Given the description of an element on the screen output the (x, y) to click on. 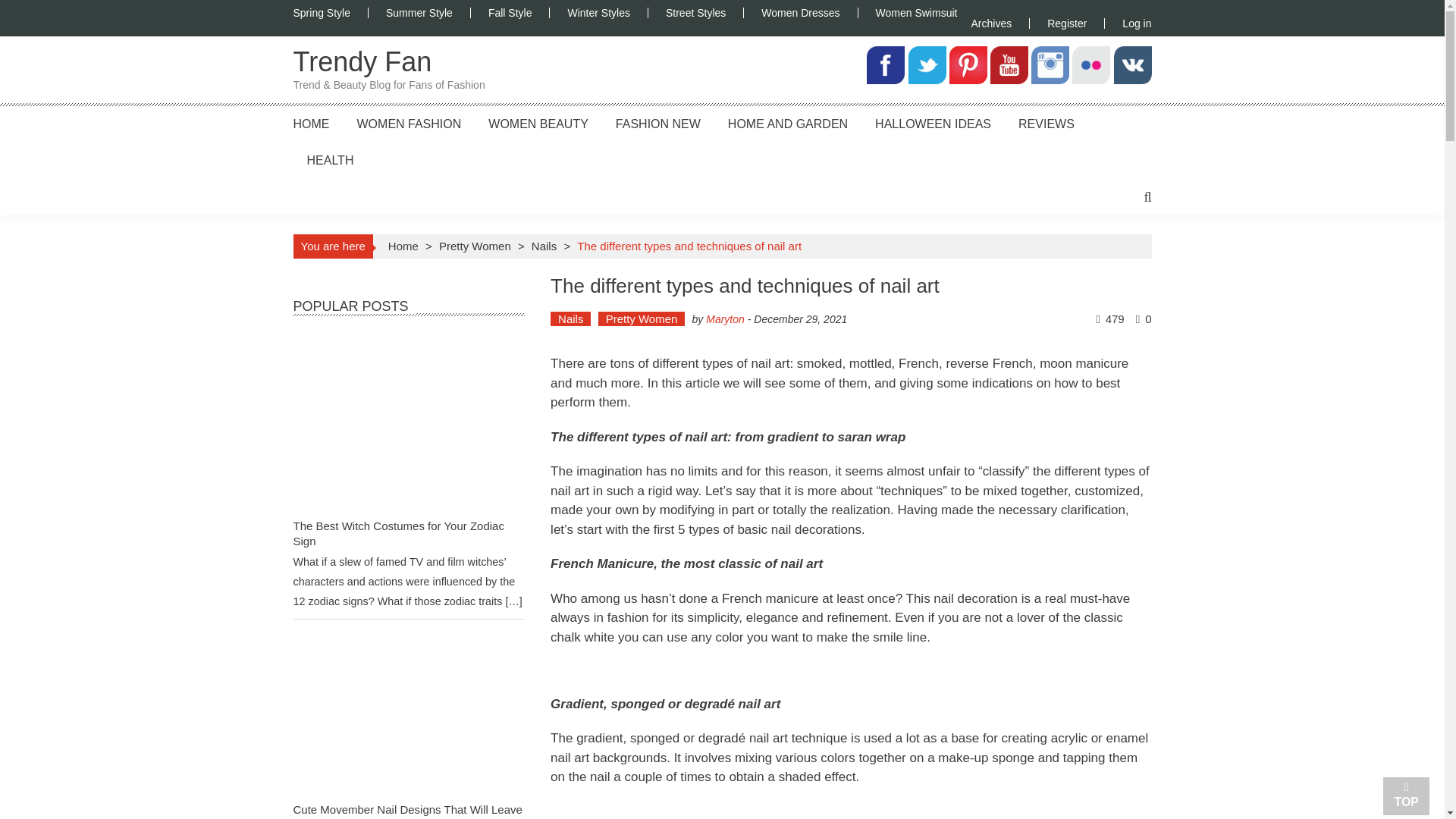
WOMEN FASHION (408, 123)
HOME AND GARDEN (787, 123)
Register (1066, 23)
WOMEN BEAUTY (537, 123)
HOME (310, 123)
Women Dresses (799, 12)
The Best Witch Costumes for Your Zodiac Sign (408, 424)
Fall Style (510, 12)
Spring Style (329, 12)
Winter Styles (597, 12)
Log in (1127, 23)
REVIEWS (1045, 123)
Street Styles (694, 12)
The Best Witch Costumes for Your Zodiac Sign (397, 533)
FASHION NEW (657, 123)
